Given the description of an element on the screen output the (x, y) to click on. 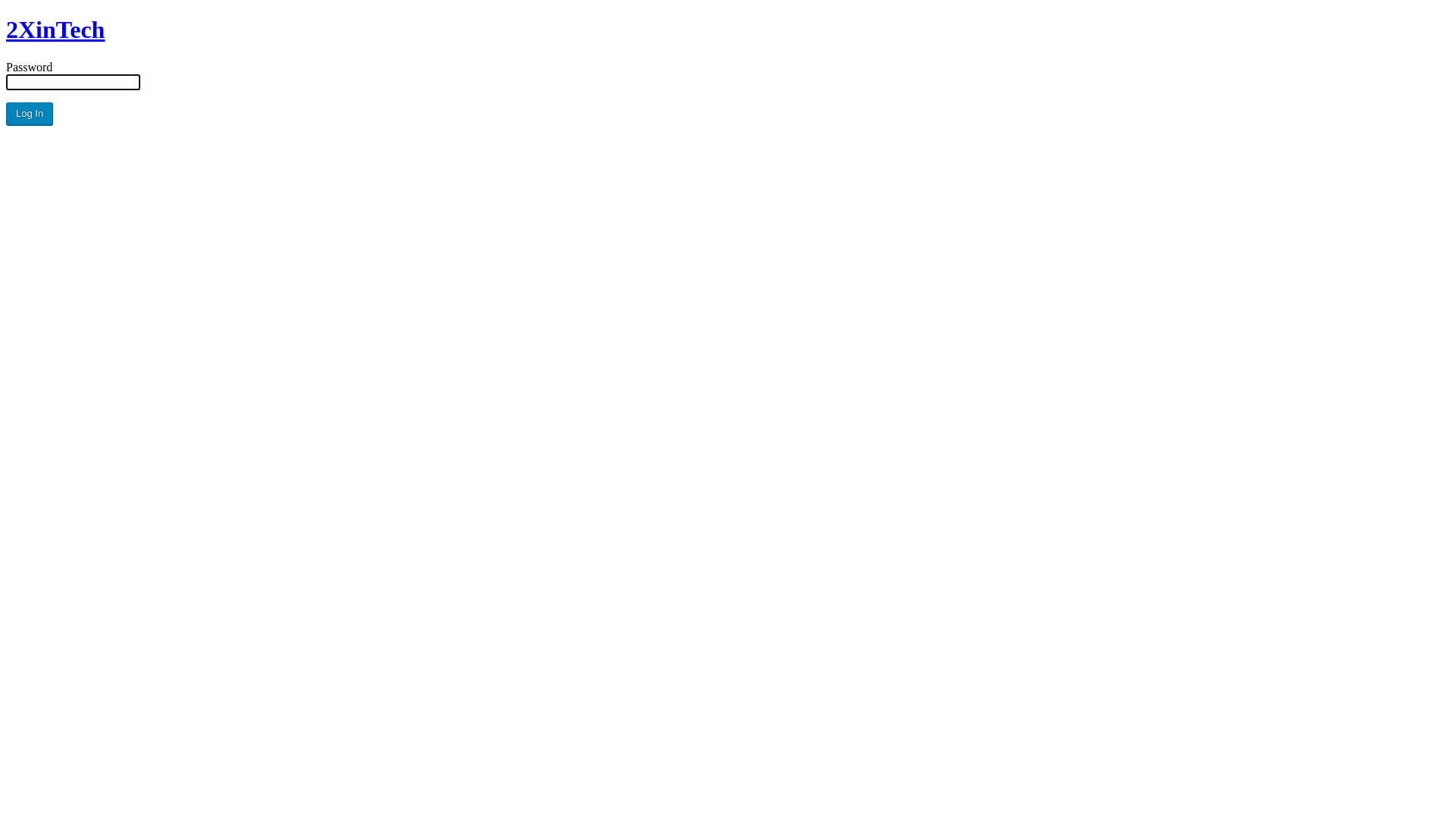
Log In Element type: text (29, 113)
2XinTech Element type: text (55, 29)
